Given the description of an element on the screen output the (x, y) to click on. 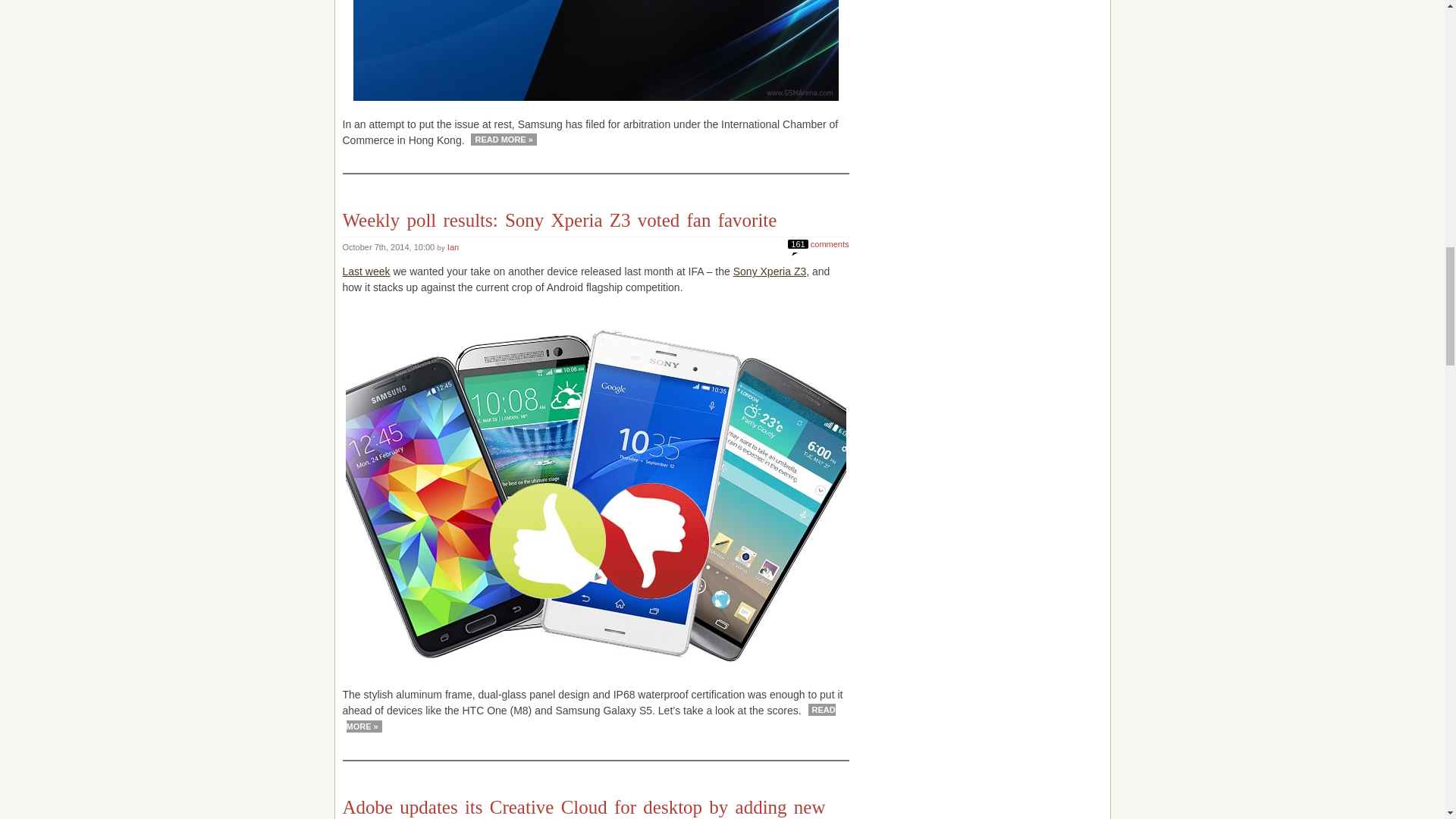
Sony Xperia Z3 (769, 271)
Last week (366, 271)
Weekly poll results: Sony Xperia Z3 voted fan favorite (559, 219)
Ian (452, 246)
07 October 2014 10:00:54 AM (390, 246)
161 comments (817, 241)
